Given the description of an element on the screen output the (x, y) to click on. 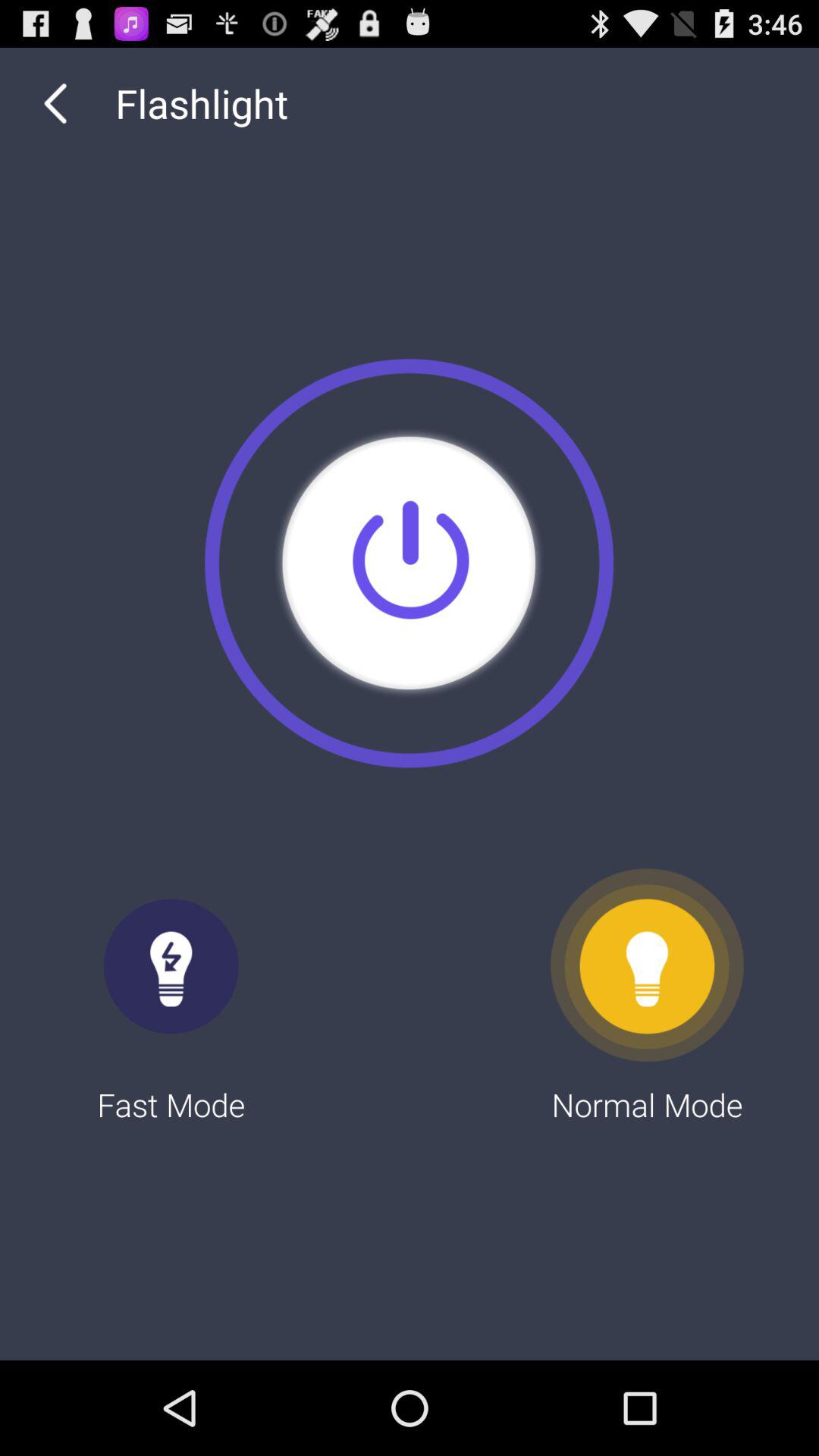
select icon at the bottom left corner (171, 996)
